Given the description of an element on the screen output the (x, y) to click on. 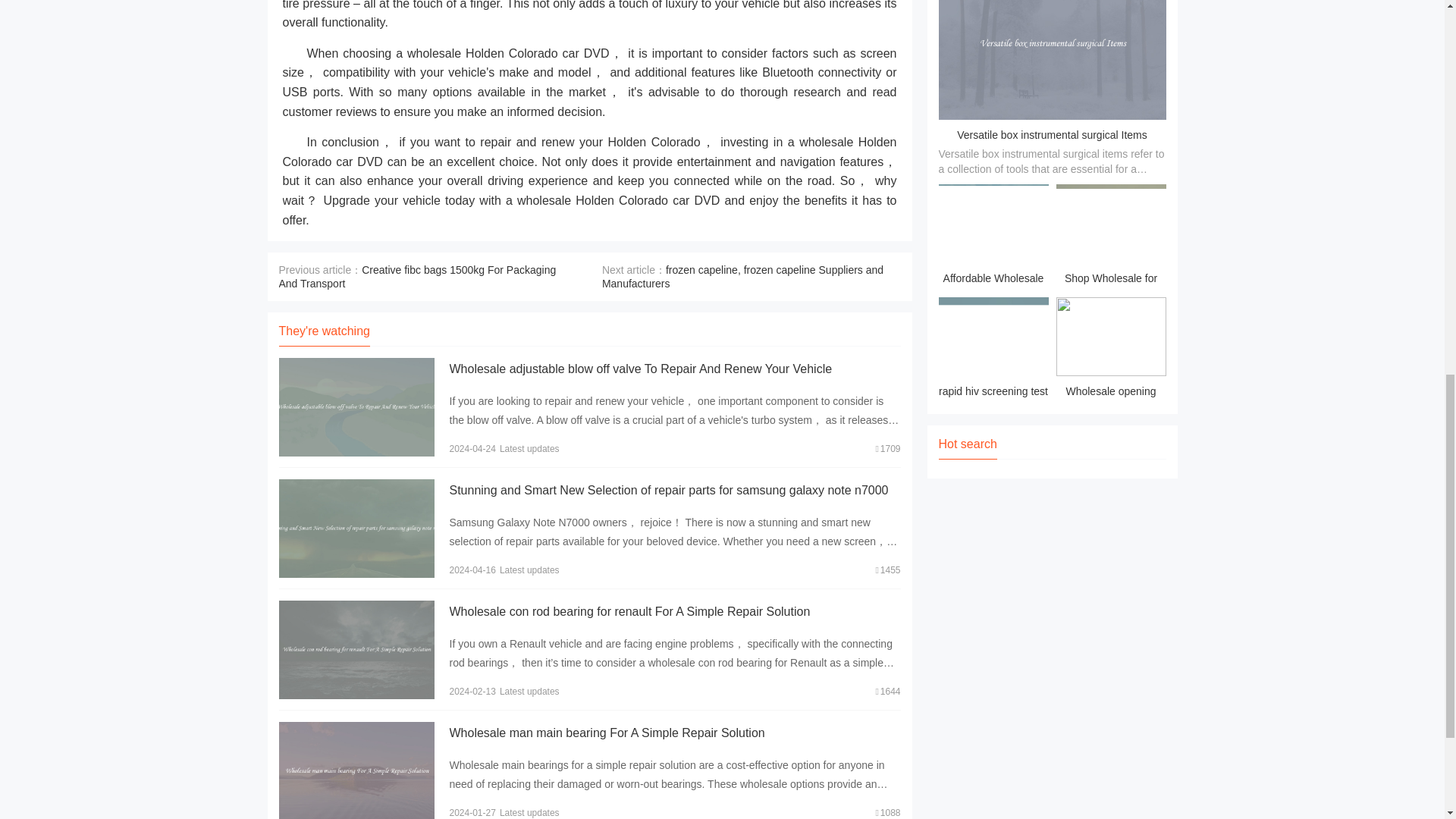
Wholesale man main bearing For A Simple Repair Solution (606, 732)
Versatile box instrumental surgical Items (1051, 134)
Affordable Wholesale ipad 4 car mount For Your Choosing (993, 236)
frozen capeline, frozen capeline Suppliers and Manufacturers (742, 276)
Wholesale opening juice bar Pieces To Upgrade Any Business (1110, 349)
Creative fibc bags 1500kg For Packaging And Transport (417, 276)
